Given the description of an element on the screen output the (x, y) to click on. 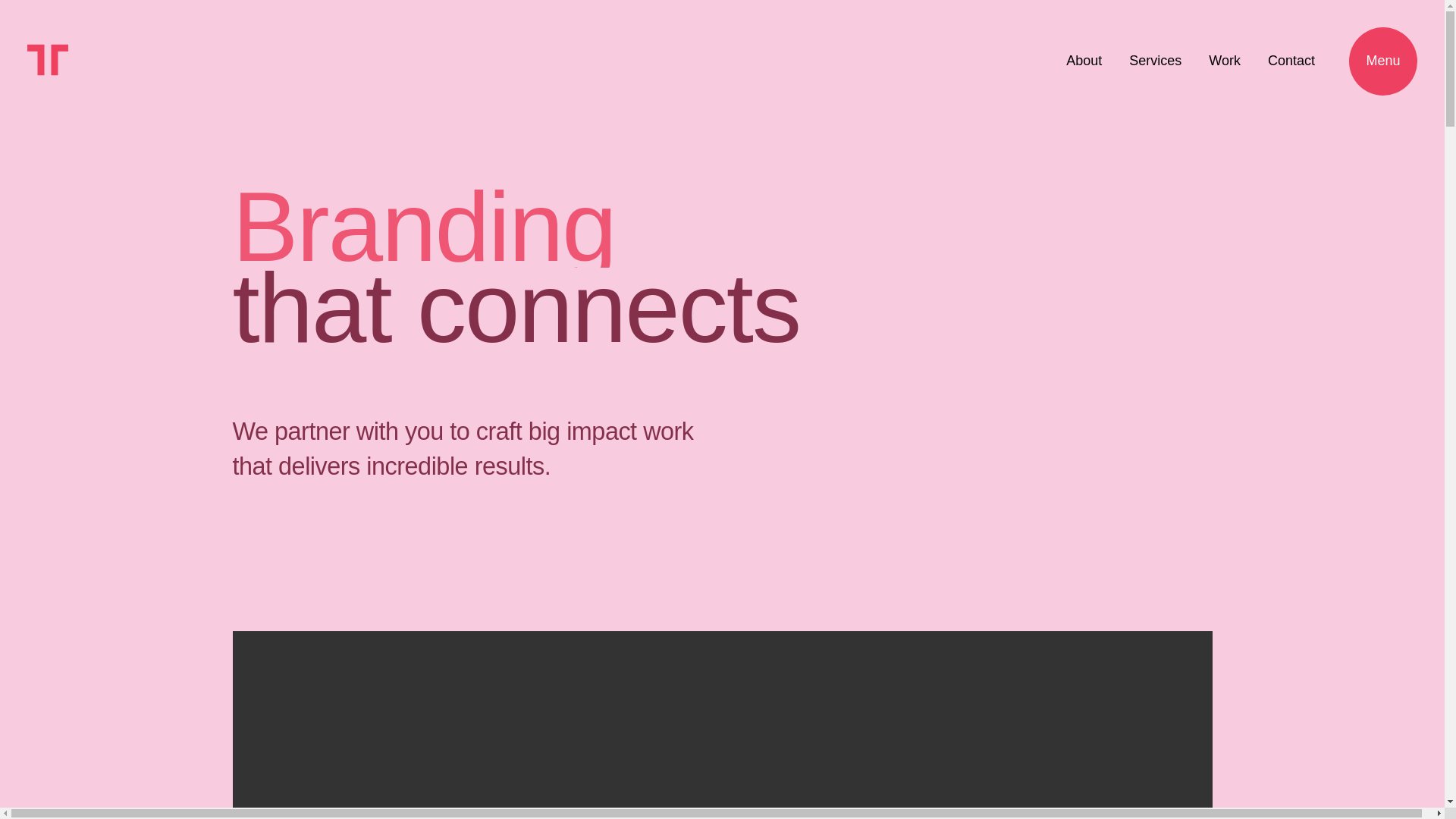
Services (1083, 60)
Contact (1154, 60)
Work (1291, 60)
